Given the description of an element on the screen output the (x, y) to click on. 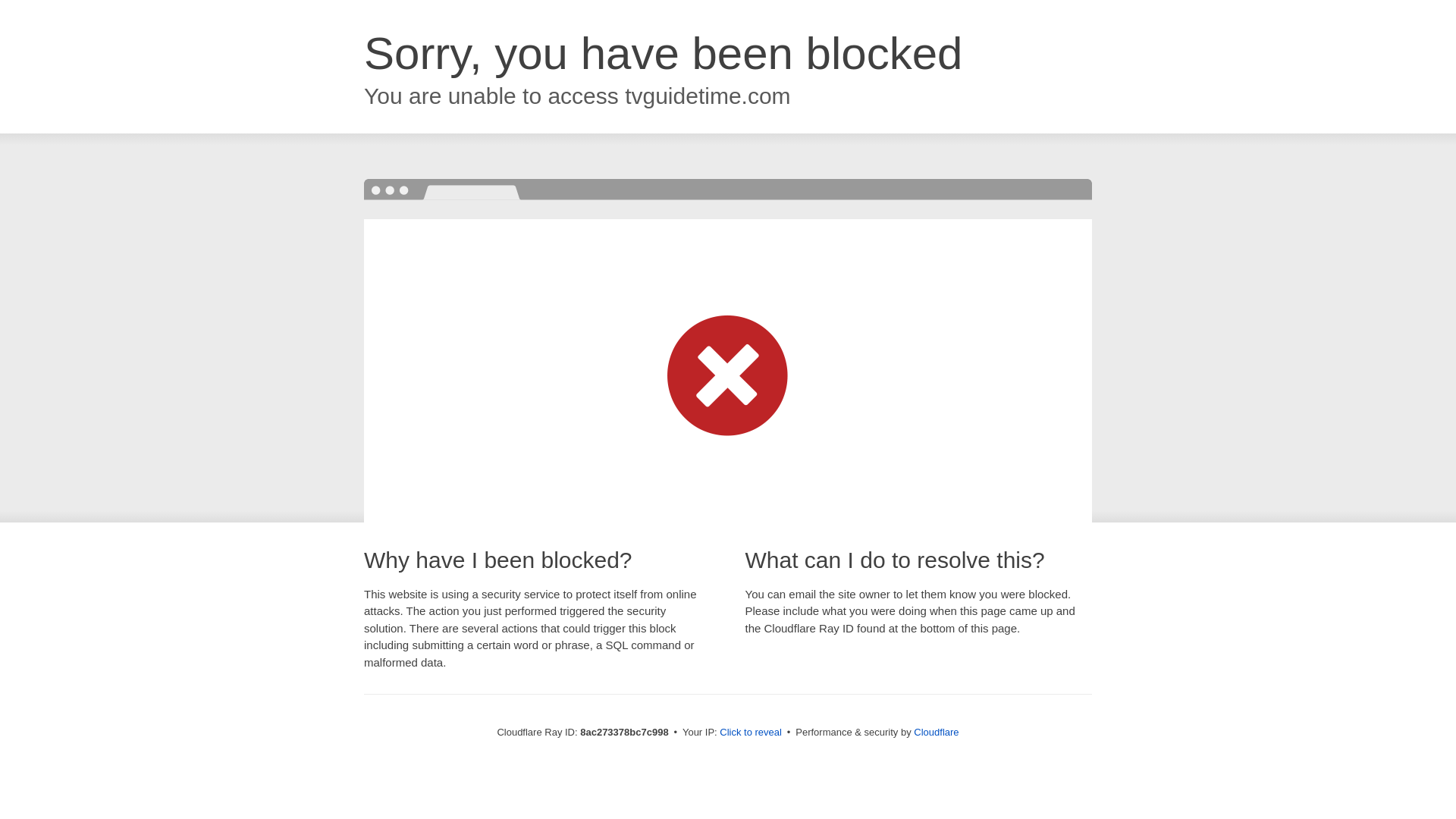
Click to reveal (750, 732)
Cloudflare (936, 731)
